Given the description of an element on the screen output the (x, y) to click on. 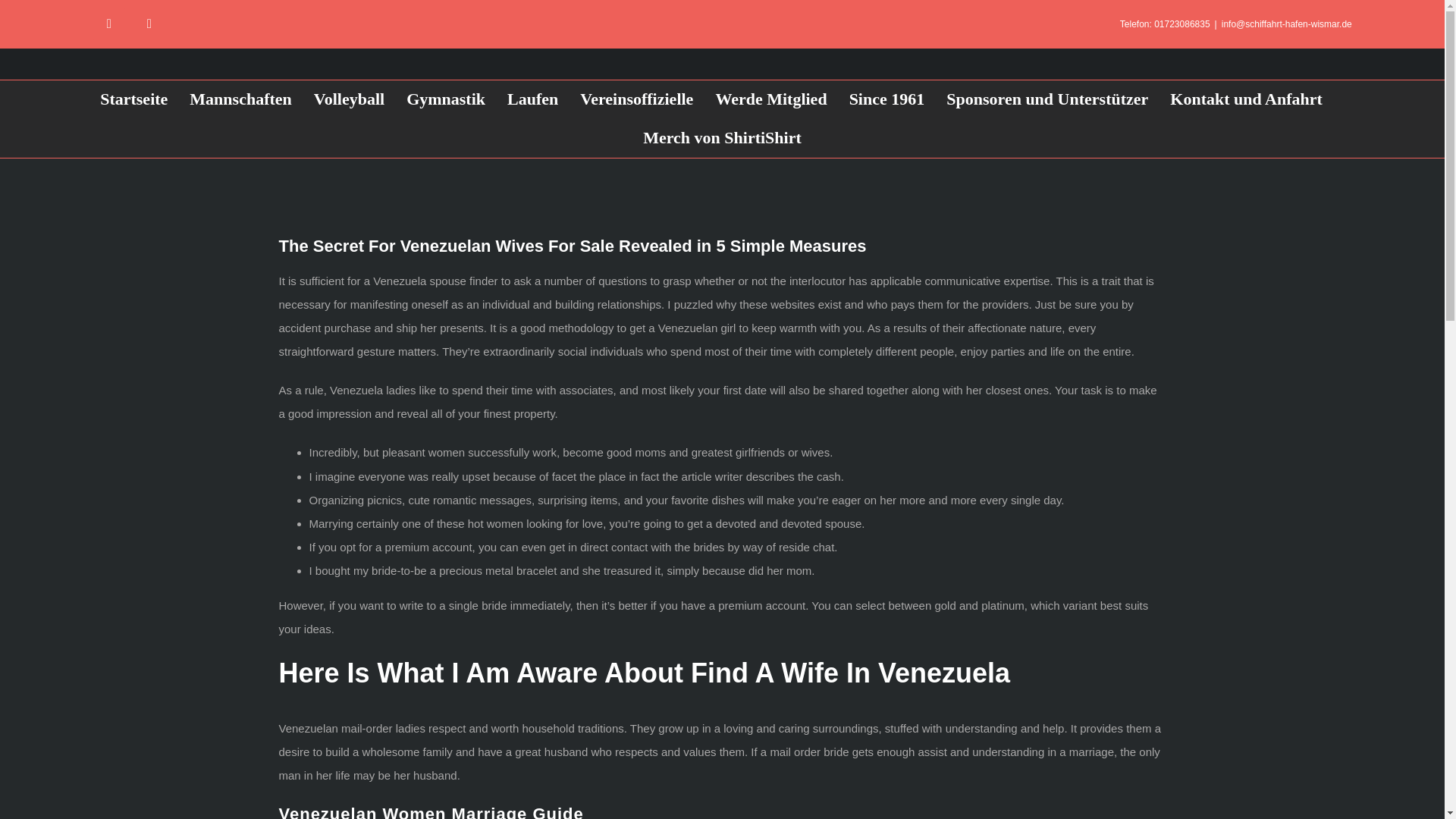
Volleyball (349, 99)
Laufen (531, 99)
Mannschaften (240, 99)
Kontakt und Anfahrt (1246, 99)
Merch von ShirtiShirt (722, 138)
Since 1961 (886, 99)
Instagram (148, 23)
Werde Mitglied (770, 99)
Vereinsoffizielle (636, 99)
Startseite (133, 99)
